Given the description of an element on the screen output the (x, y) to click on. 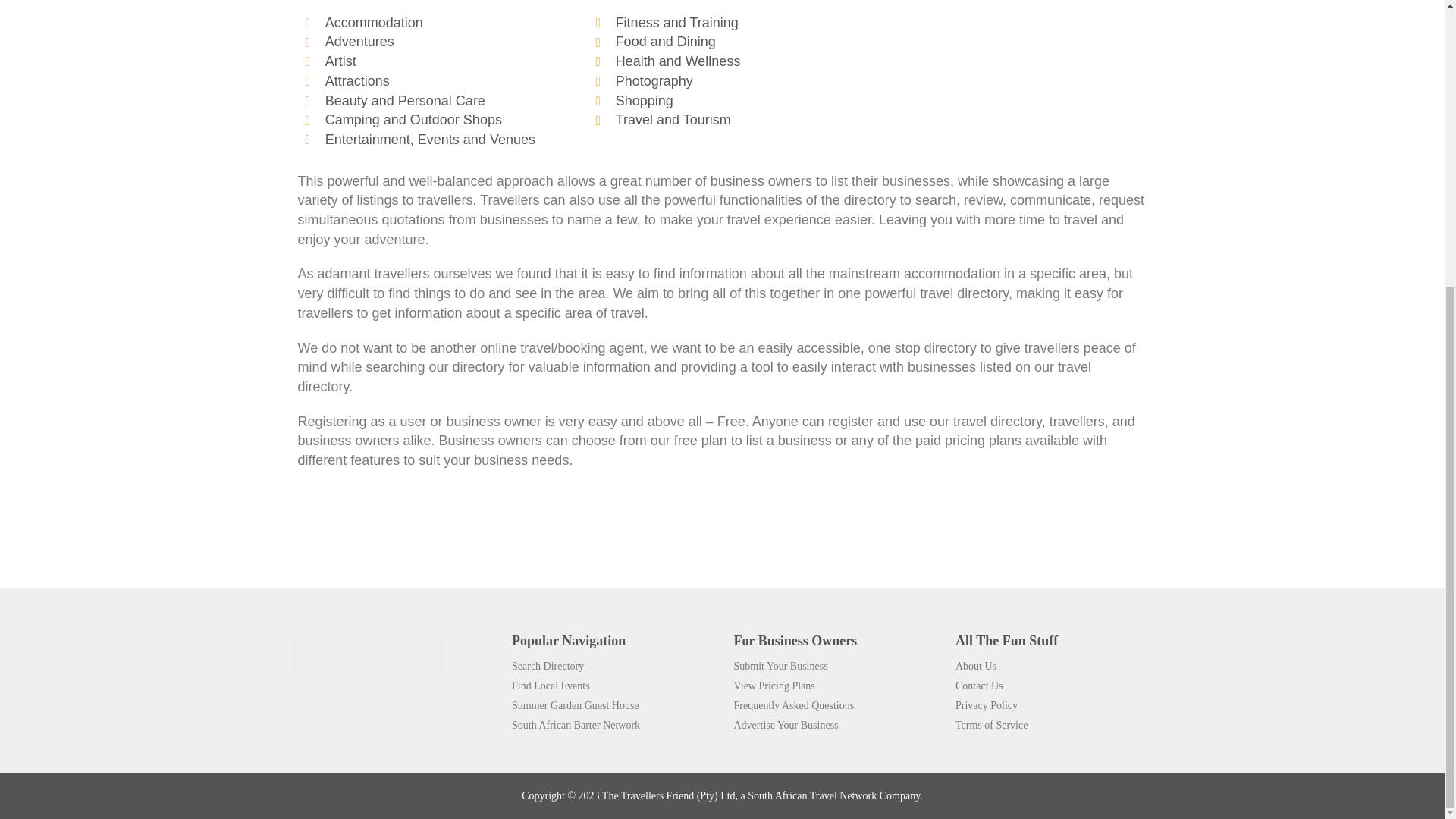
Contact Us (979, 685)
Search Directory (547, 665)
Terms of Service (991, 725)
Advertise Your Business (785, 725)
Find Local Events (550, 685)
Summer Garden Guest House (575, 705)
View Pricing Plans (774, 685)
Submit Your Business (780, 665)
Frequently Asked Questions (793, 705)
About Us (975, 665)
South African Barter Network (576, 725)
Privacy Policy (986, 705)
